Given the description of an element on the screen output the (x, y) to click on. 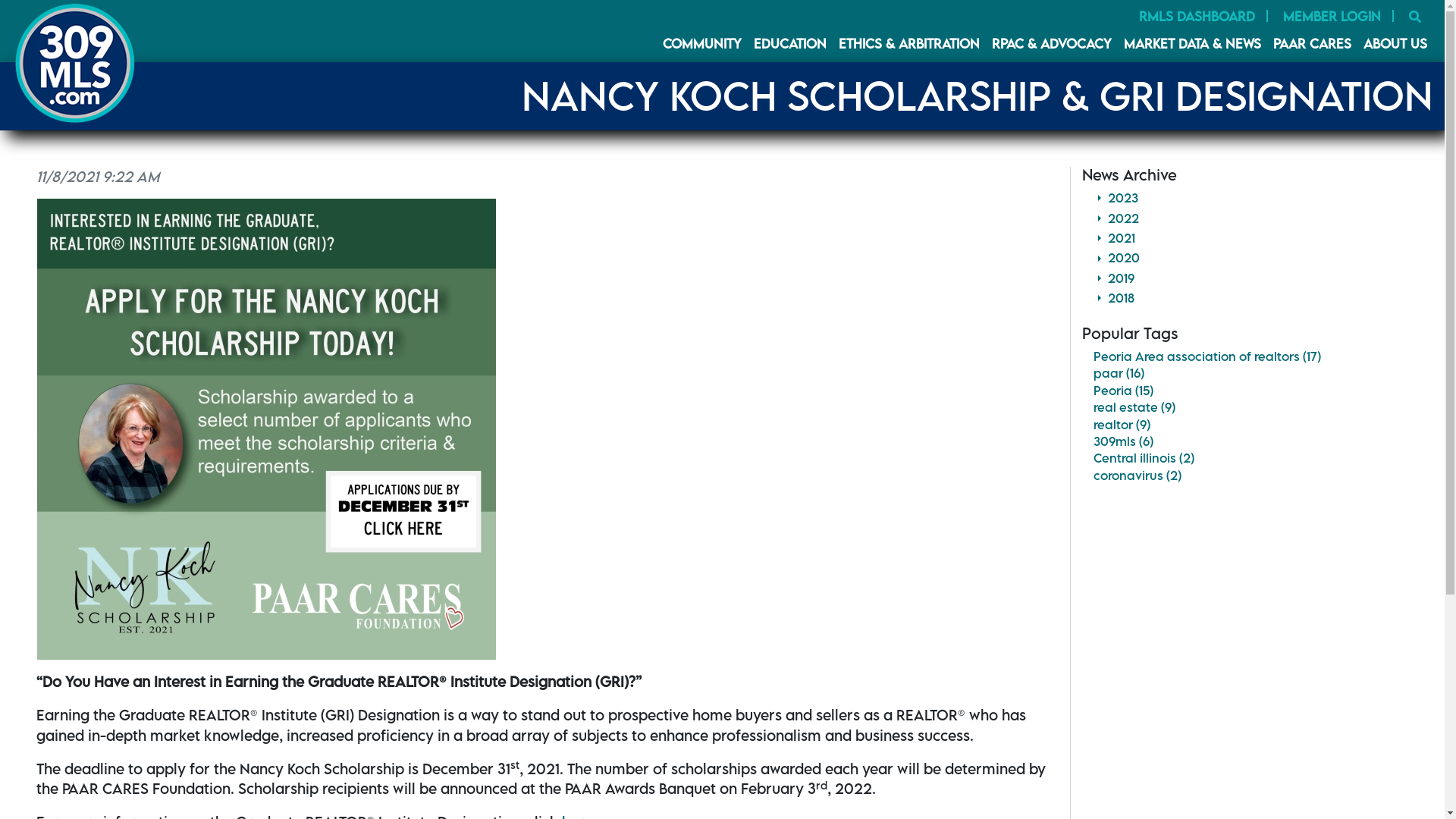
real estate (9) Element type: text (1134, 406)
paar (16) Element type: text (1118, 372)
2019 Element type: text (1250, 277)
coronavirus (2) Element type: text (1137, 475)
SEARCH Element type: text (1414, 16)
2020 Element type: text (1250, 257)
309mls (6) Element type: text (1123, 440)
RMLS DASHBOARD Element type: text (1197, 16)
Central illinois (2) Element type: text (1143, 457)
EDUCATION Element type: text (789, 43)
ETHICS & ARBITRATION Element type: text (908, 43)
RPAC & ADVOCACY Element type: text (1051, 43)
realtor (9) Element type: text (1121, 424)
2018 Element type: text (1250, 297)
2022 Element type: text (1250, 218)
COMMUNITY Element type: text (701, 43)
MEMBER LOGIN Element type: text (1331, 16)
2021 Element type: text (1250, 237)
MARKET DATA & NEWS Element type: text (1192, 43)
Peoria (15) Element type: text (1123, 390)
PAAR CARES Element type: text (1312, 43)
Peoria Area association of realtors (17) Element type: text (1207, 356)
2023 Element type: text (1250, 197)
ABOUT US Element type: text (1395, 43)
